Given the description of an element on the screen output the (x, y) to click on. 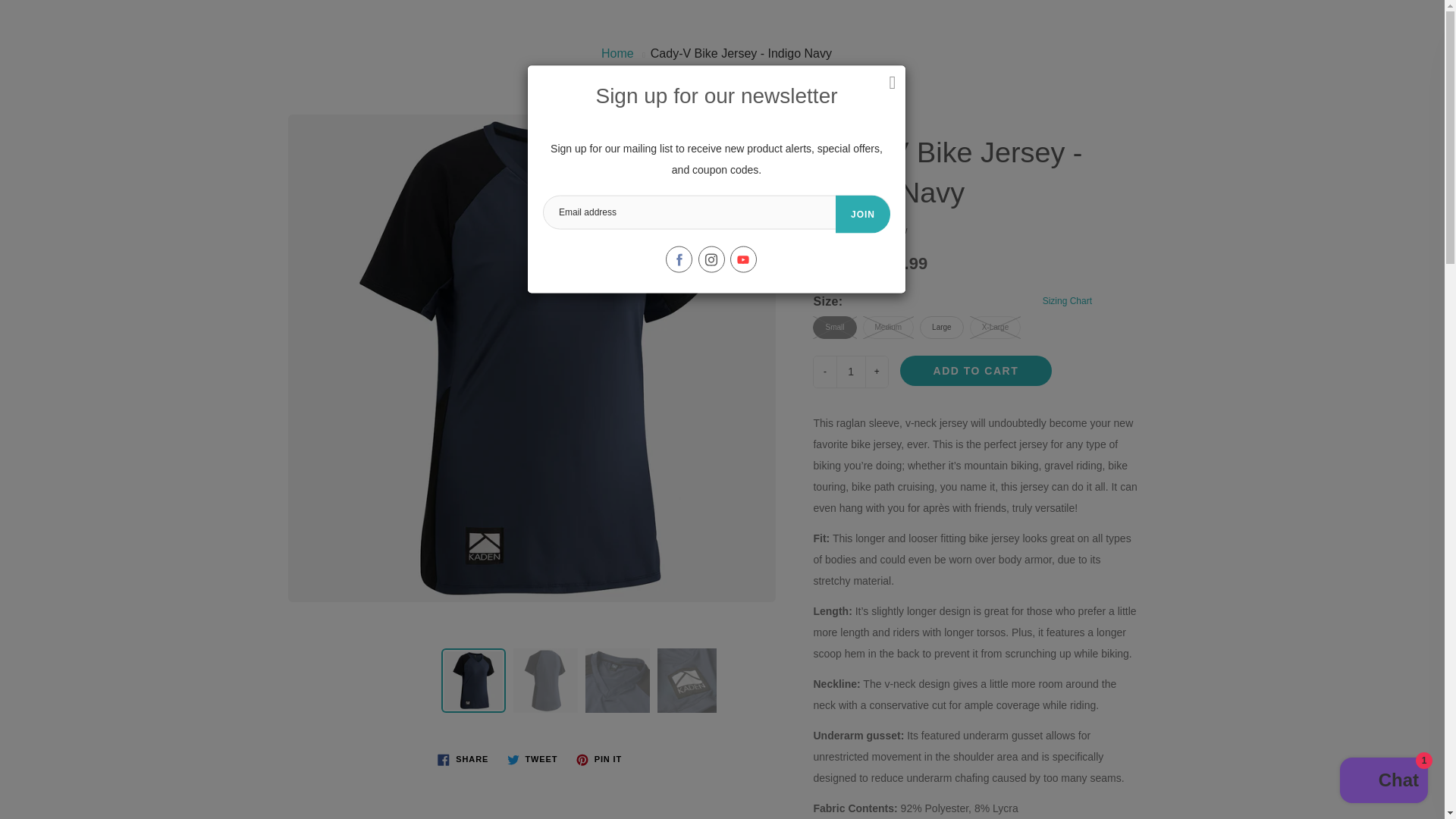
1 (850, 371)
SHOP (350, 93)
LOOKBOOK (794, 93)
KIT BUILDER (454, 93)
Instagram (710, 259)
PRESS (980, 93)
You have 0 items in your cart (1406, 33)
Facebook (679, 259)
Home (617, 52)
BLOG (555, 93)
Search (28, 33)
Cady-V Bike Jersey - Indigo Navy (473, 680)
ABOUT (895, 93)
CONTACT (1075, 93)
